Given the description of an element on the screen output the (x, y) to click on. 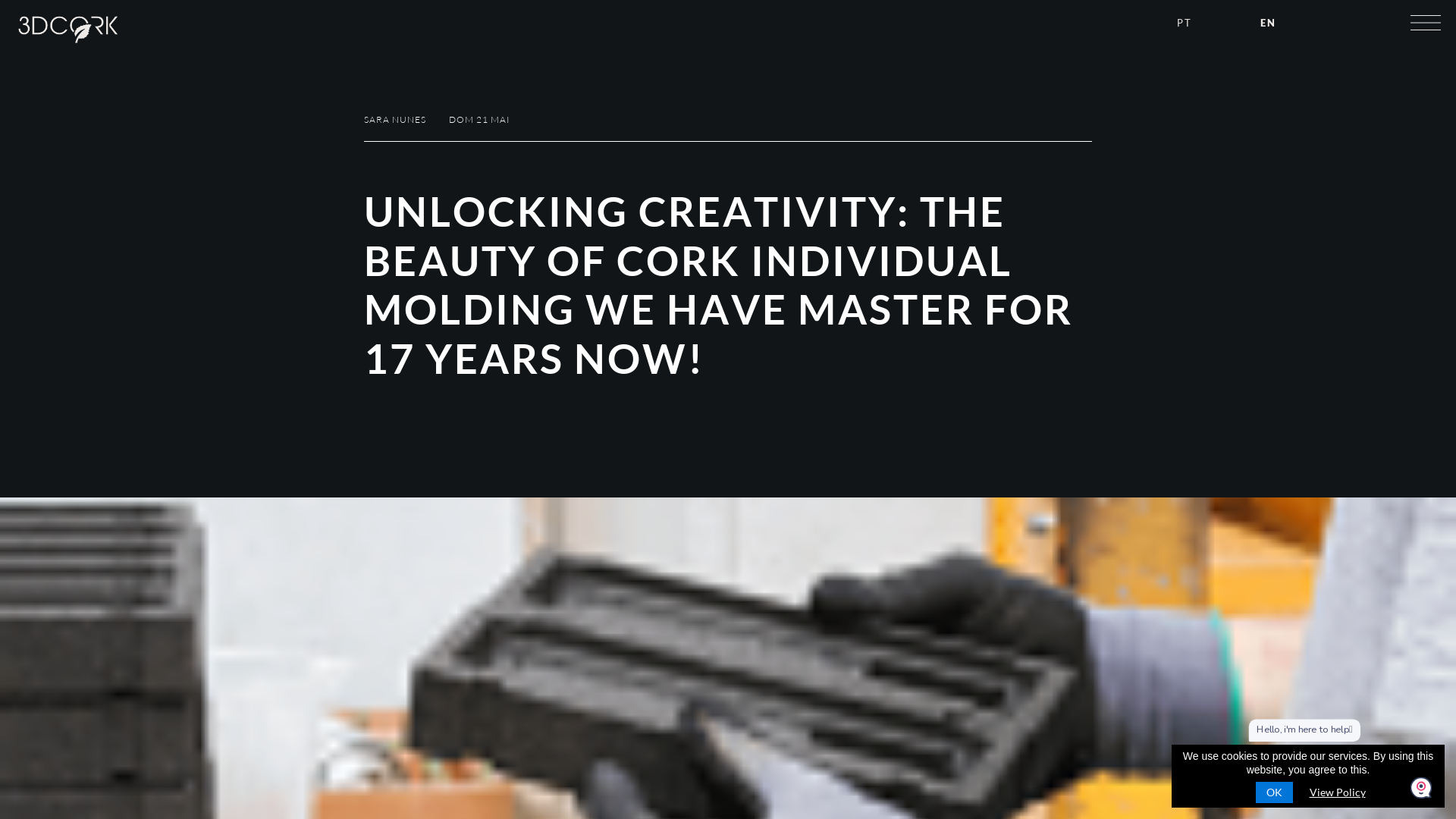
PT Element type: text (1184, 22)
EN Element type: text (1268, 22)
View Policy Element type: text (1336, 791)
OK Element type: text (1273, 792)
